Given the description of an element on the screen output the (x, y) to click on. 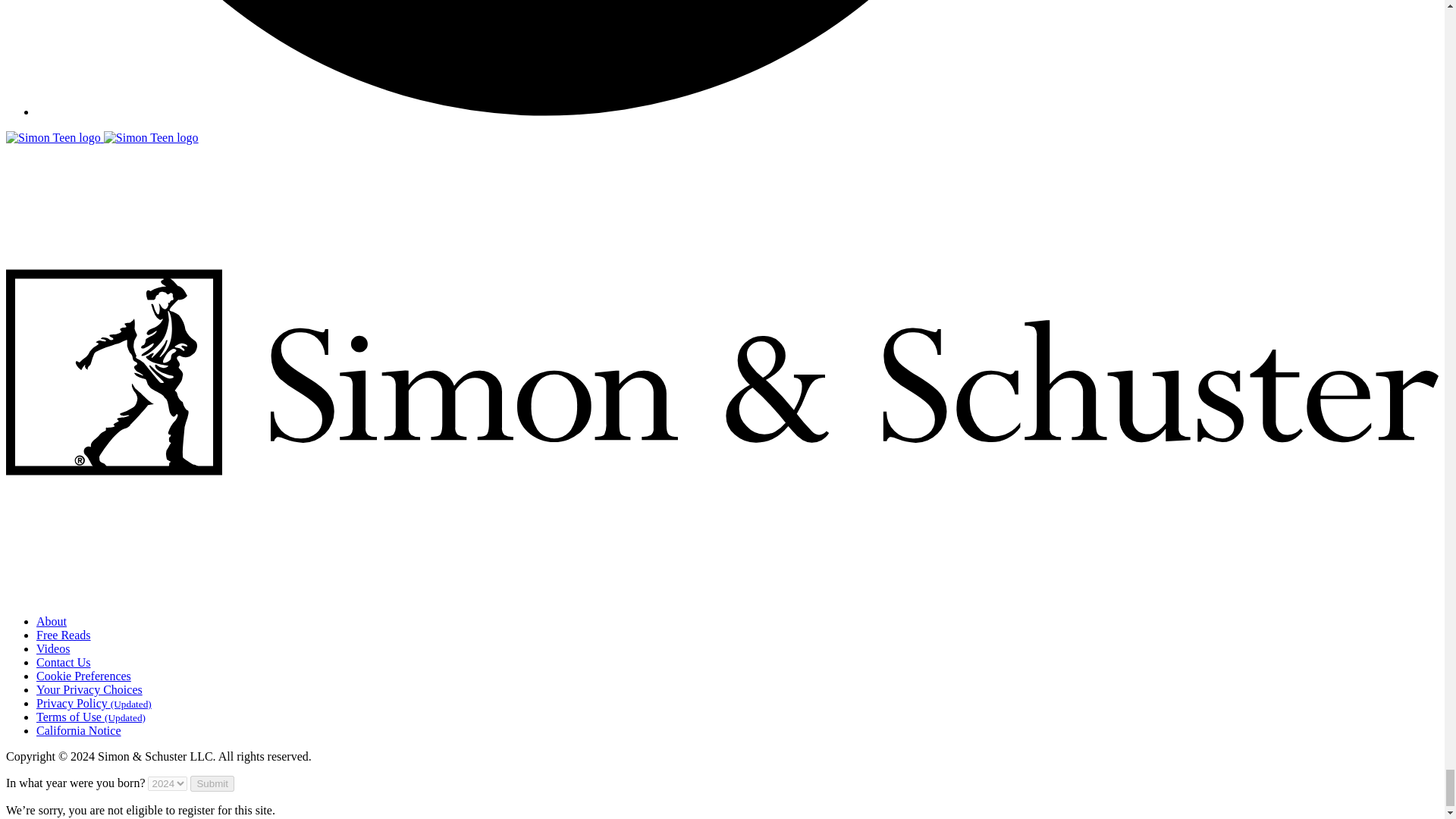
Submit (211, 783)
Simon Teen (150, 137)
Simon Teen (101, 137)
Simon Teen (52, 137)
